Given the description of an element on the screen output the (x, y) to click on. 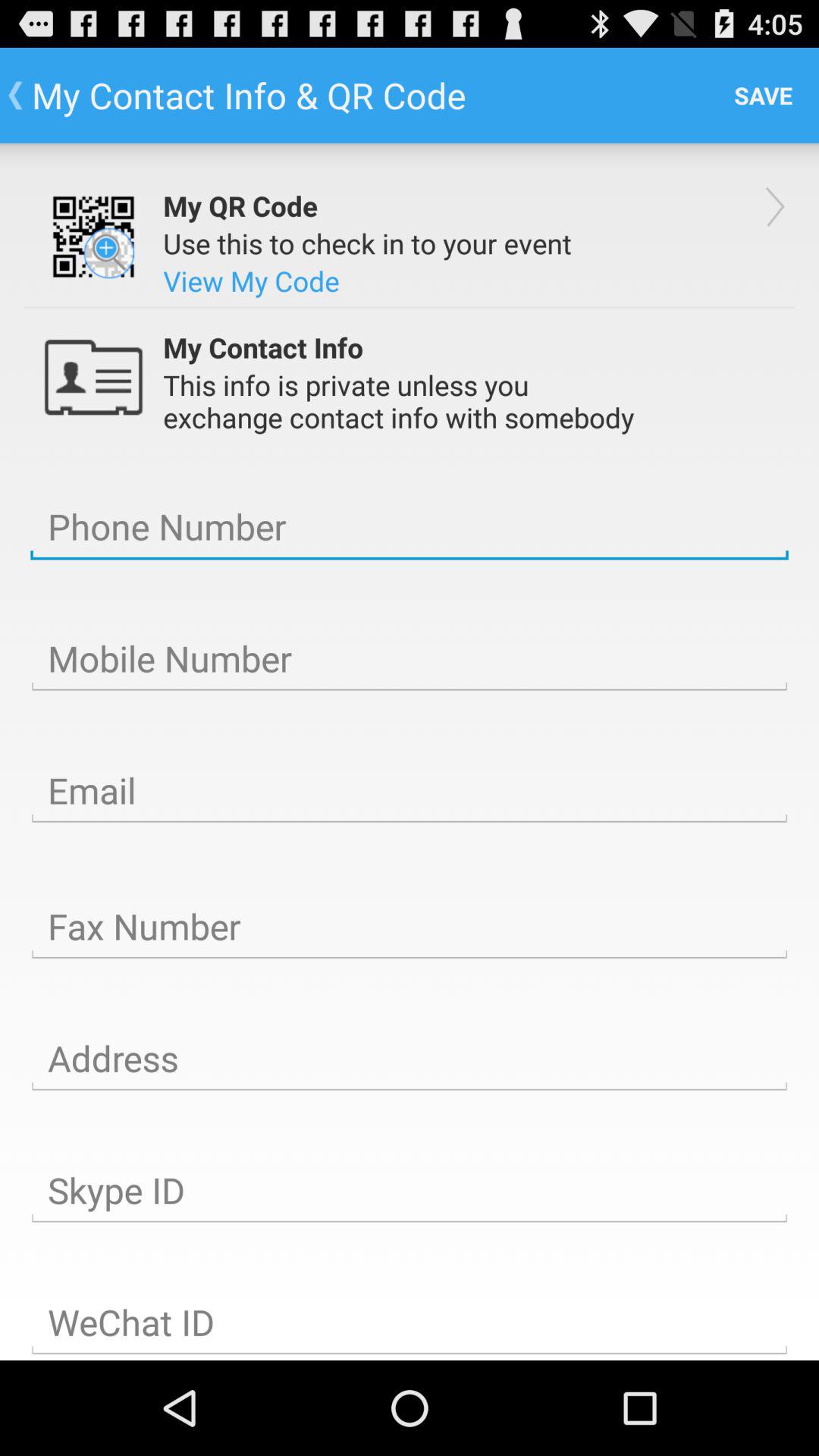
enter skype id (409, 1190)
